Given the description of an element on the screen output the (x, y) to click on. 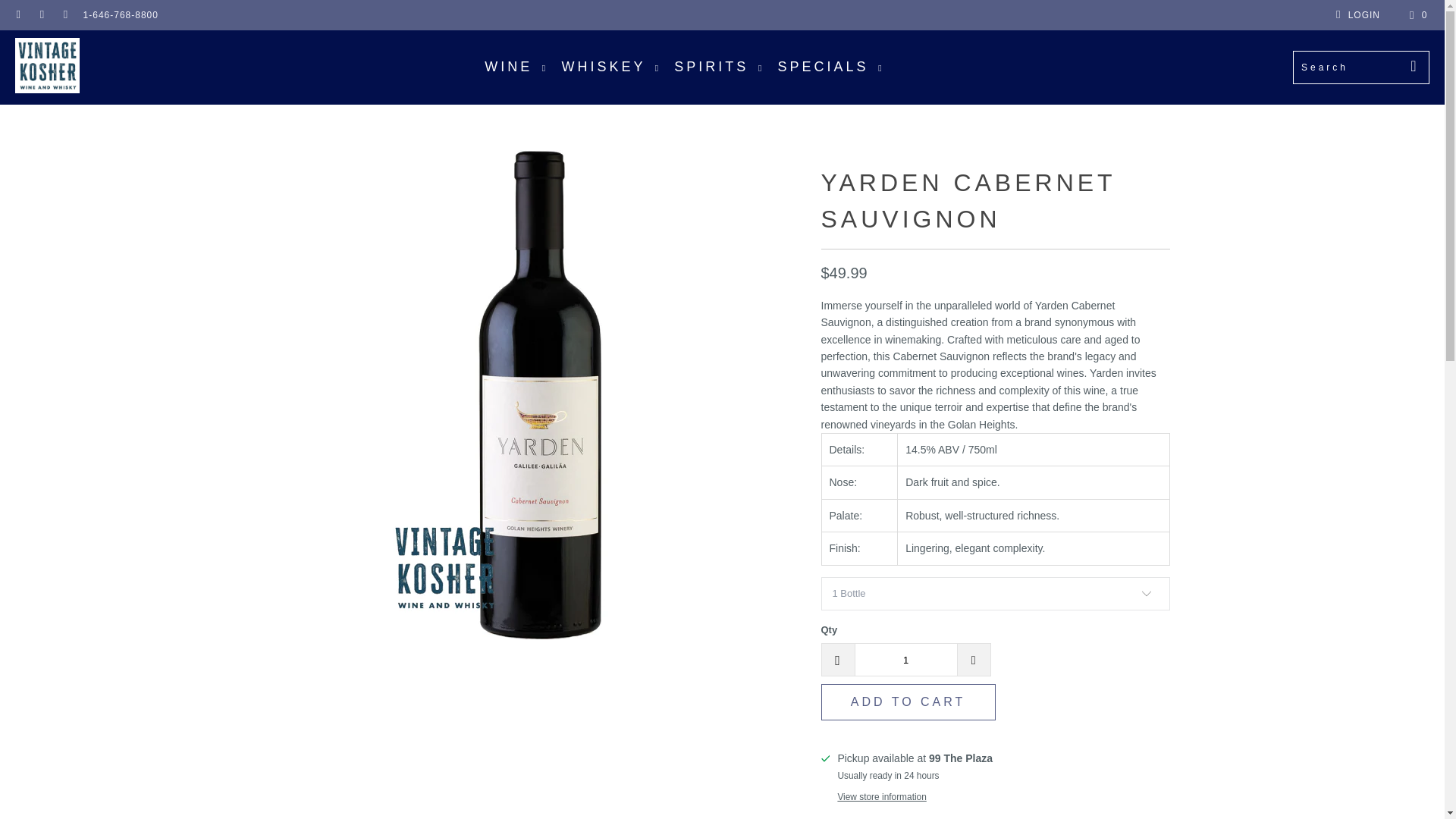
Vintage Kosher on Instagram (64, 14)
Email Vintage Kosher (17, 14)
Vintage Kosher on Facebook (41, 14)
1 (904, 659)
My Account  (1355, 14)
Vintage Kosher (47, 67)
